Given the description of an element on the screen output the (x, y) to click on. 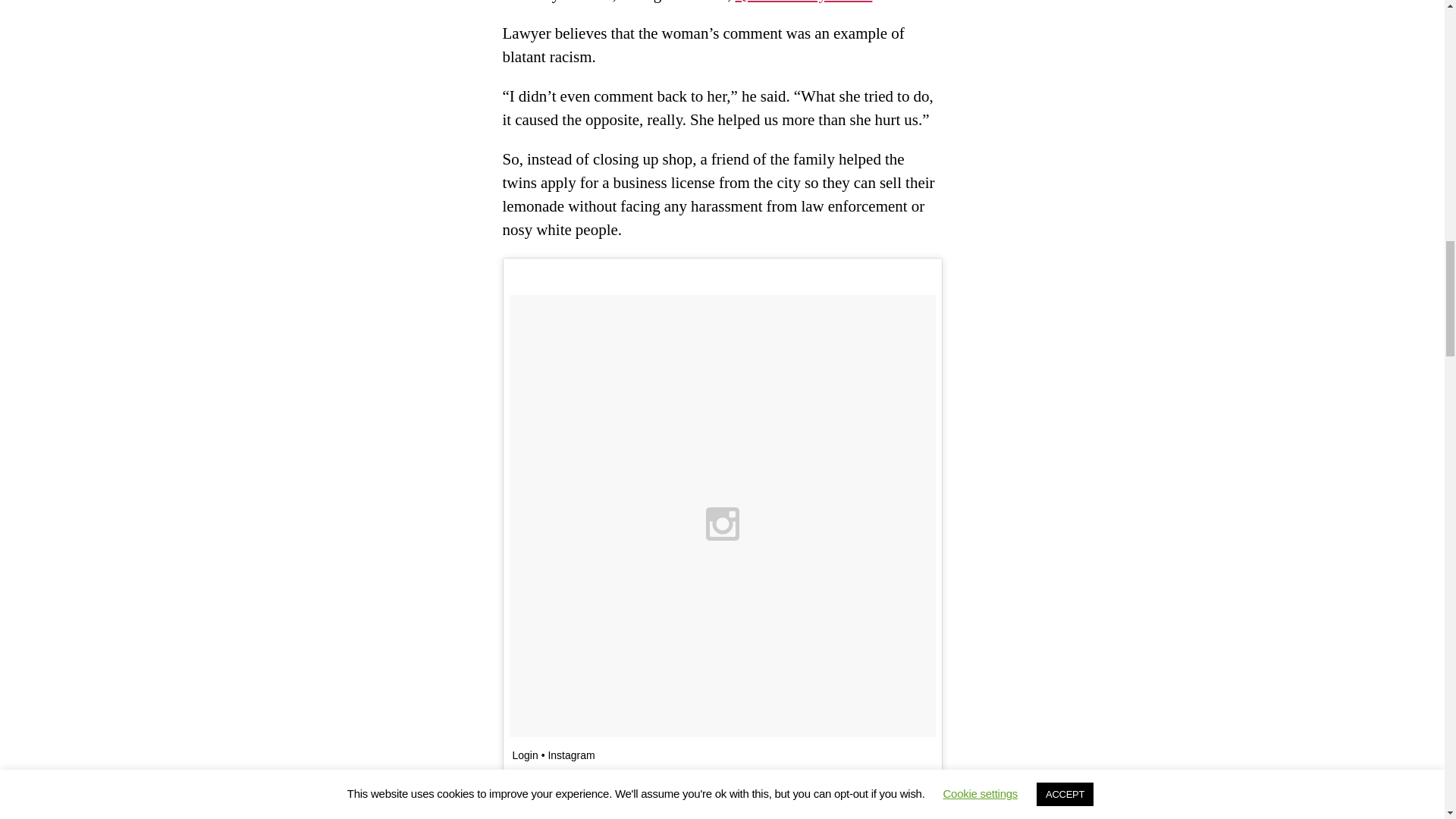
Quentin Lawyer said. (803, 2)
